Given the description of an element on the screen output the (x, y) to click on. 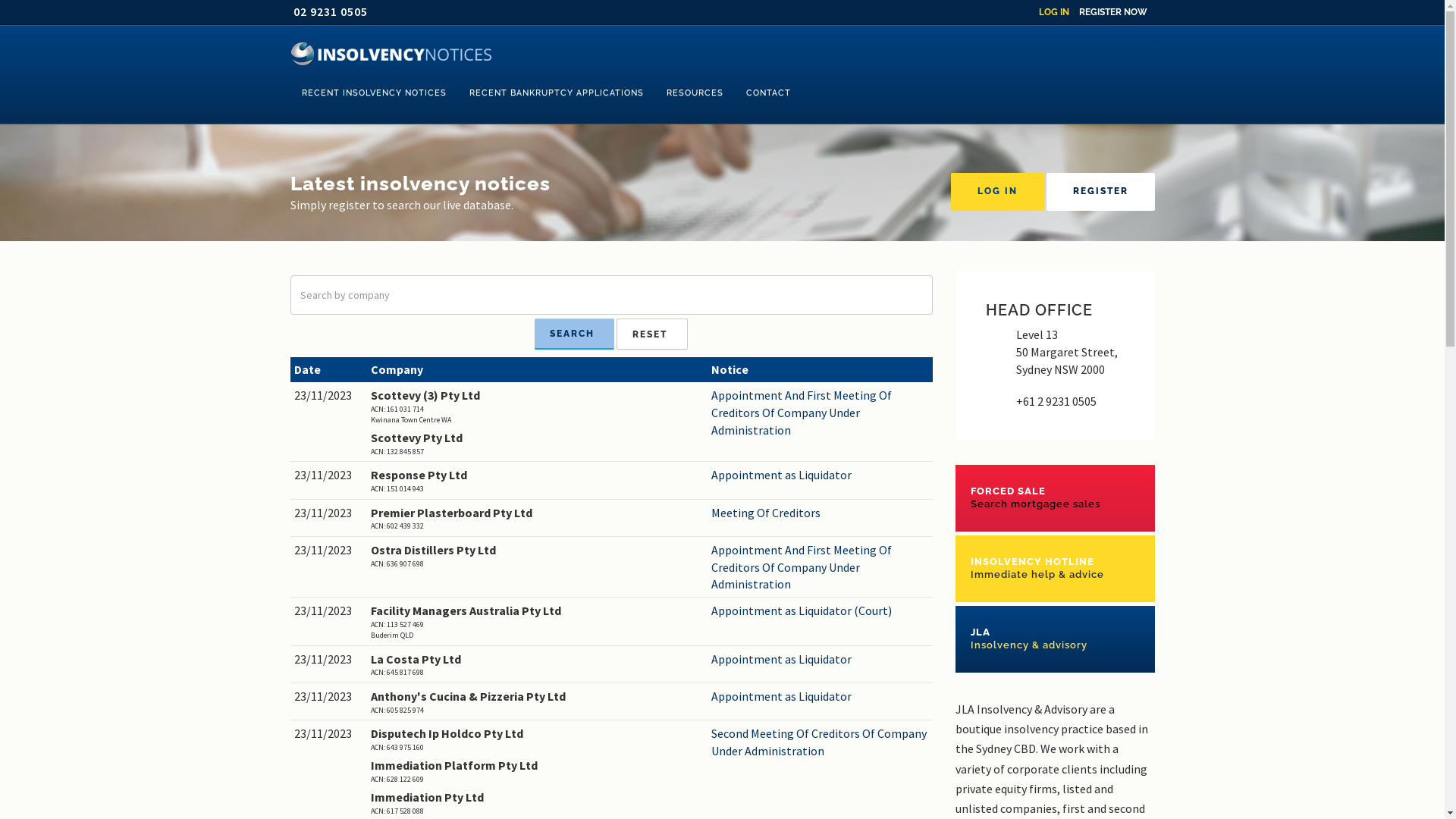
Ostra Distillers Pty Ltd
ACN: 636 907 698 Element type: text (536, 555)
23/11/2023 Element type: text (329, 696)
Appointment as Liquidator Element type: text (819, 474)
FORCED SALE  
Search mortgagee sales Element type: text (1054, 497)
Second Meeting Of Creditors Of Company Under Administration Element type: text (819, 741)
Appointment as Liquidator (Court) Element type: text (819, 610)
Meeting Of Creditors Element type: text (819, 512)
23/11/2023 Element type: text (329, 659)
RESOURCES Element type: text (694, 92)
REGISTER NOW Element type: text (1112, 11)
JLA  
Insolvency & advisory Element type: text (1054, 638)
Anthony's Cucina & Pizzeria Pty Ltd
ACN: 605 825 974 Element type: text (536, 701)
CONTACT Element type: text (767, 92)
La Costa Pty Ltd
ACN: 645 817 698 Element type: text (536, 664)
23/11/2023 Element type: text (329, 610)
23/11/2023 Element type: text (329, 549)
Response Pty Ltd
ACN: 151 014 943 Element type: text (536, 480)
RECENT BANKRUPTCY APPLICATIONS Element type: text (556, 92)
23/11/2023 Element type: text (329, 512)
23/11/2023 Element type: text (329, 733)
Appointment as Liquidator Element type: text (819, 659)
LOG IN Element type: text (1053, 11)
INSOLVENCY HOTLINE  
Immediate help & advice Element type: text (1054, 568)
23/11/2023 Element type: text (329, 395)
RECENT INSOLVENCY NOTICES Element type: text (373, 92)
Search Element type: text (574, 333)
23/11/2023 Element type: text (329, 474)
LOG IN Element type: text (997, 191)
REGISTER Element type: text (1100, 191)
Appointment as Liquidator Element type: text (819, 696)
Premier Plasterboard Pty Ltd
ACN: 602 439 332 Element type: text (536, 518)
